Given the description of an element on the screen output the (x, y) to click on. 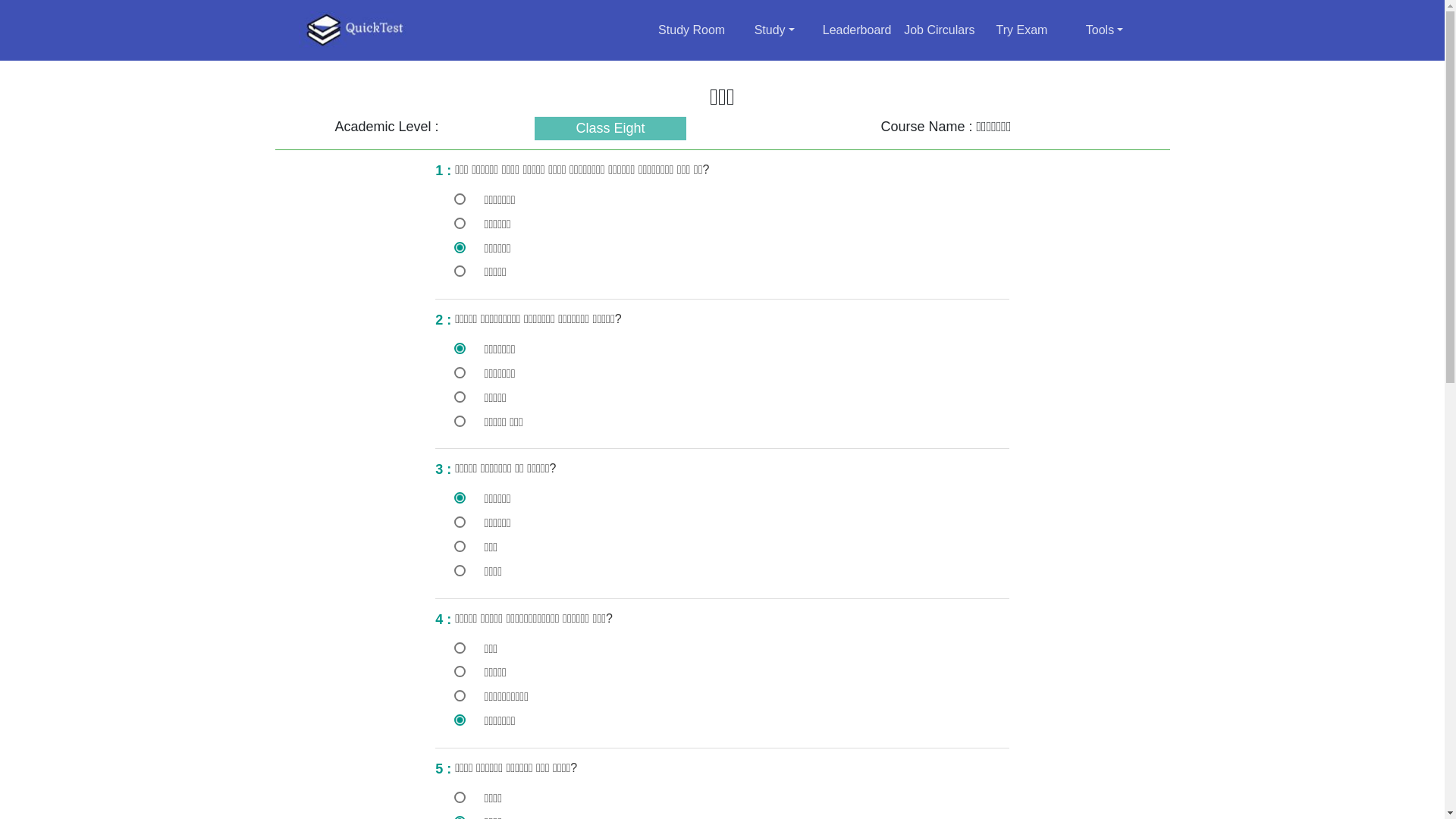
Study Element type: text (773, 30)
Study Room Element type: text (691, 30)
Leaderboard Element type: text (856, 30)
Advertisement Element type: hover (348, 377)
Class Eight Element type: text (609, 128)
Tools Element type: text (1104, 30)
Advertisement Element type: hover (1095, 377)
Job Circulars Element type: text (938, 30)
Try Exam Element type: text (1022, 30)
